Given the description of an element on the screen output the (x, y) to click on. 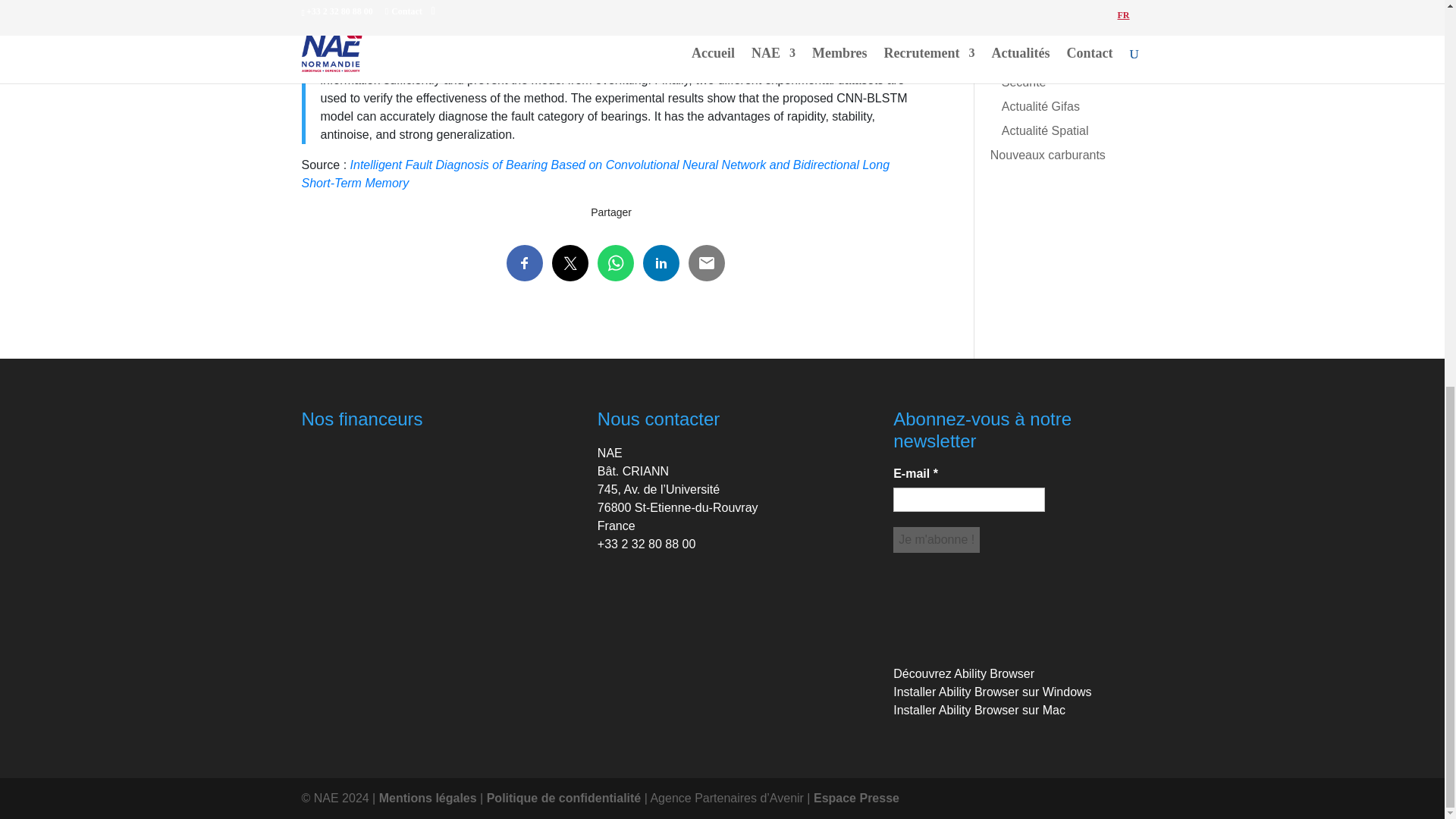
Je m'abonne ! (936, 539)
E-mail (969, 499)
